Given the description of an element on the screen output the (x, y) to click on. 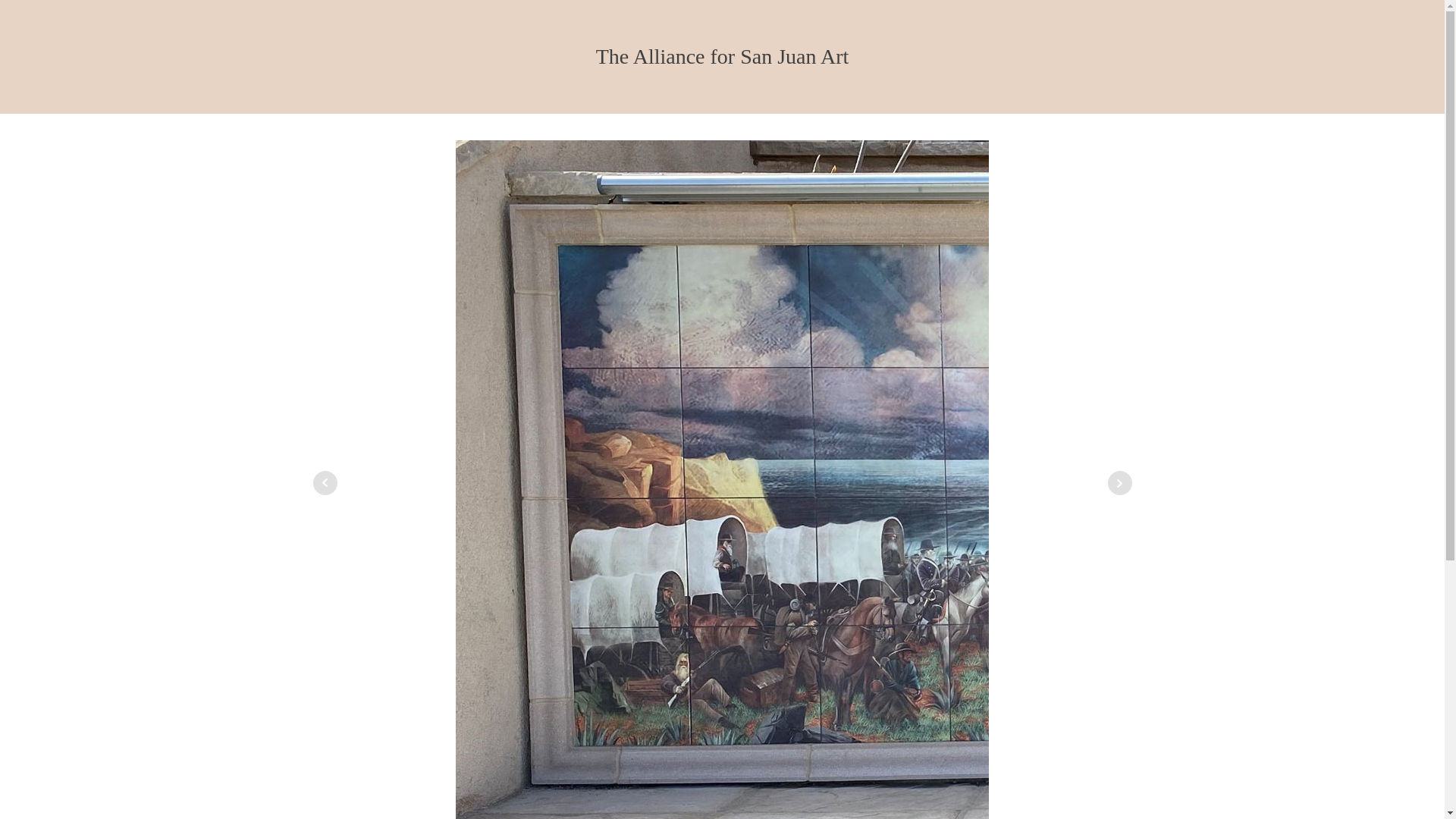
Prev (324, 482)
Next (1118, 482)
